Given the description of an element on the screen output the (x, y) to click on. 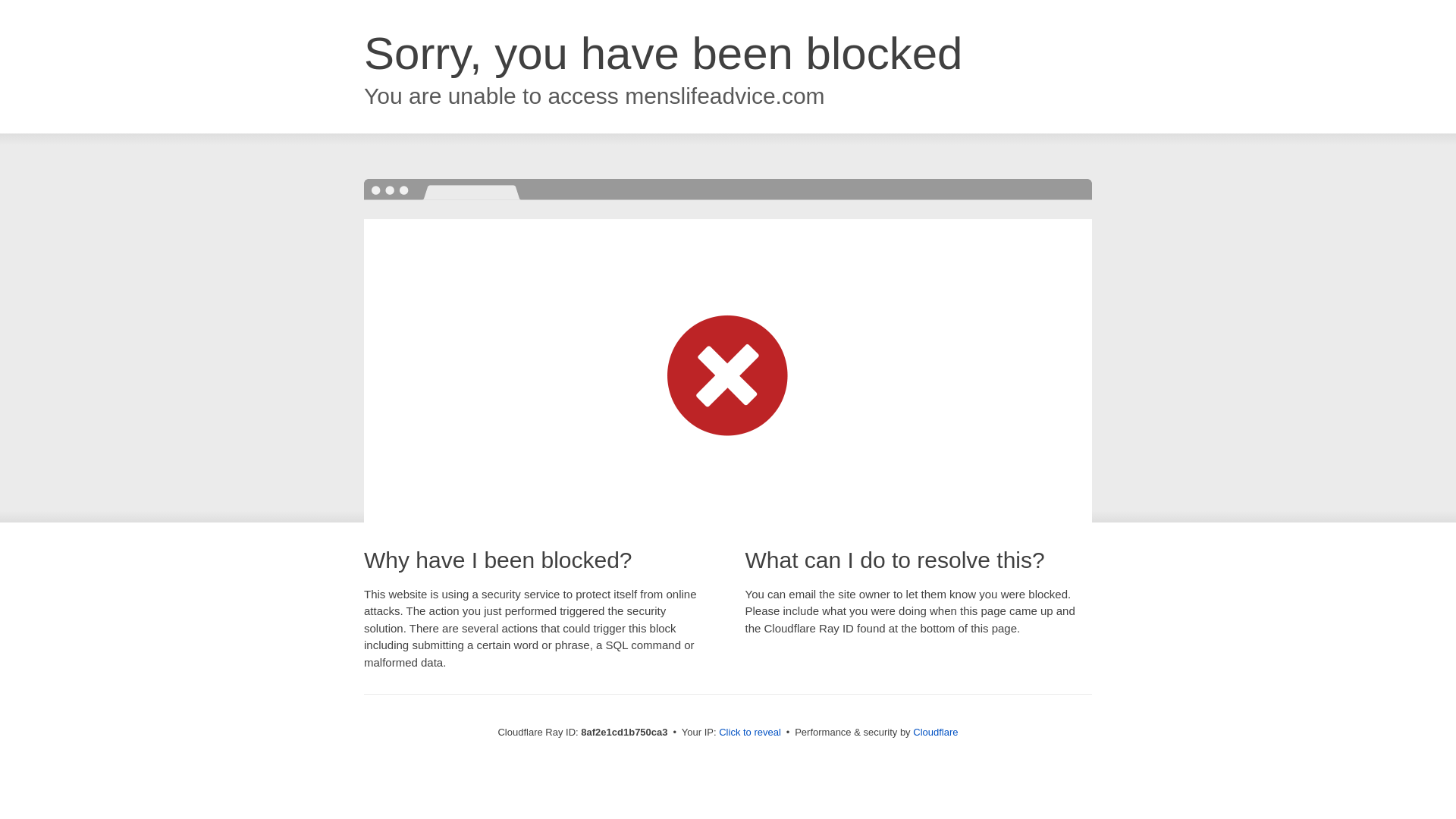
Cloudflare (935, 731)
Click to reveal (749, 732)
